Given the description of an element on the screen output the (x, y) to click on. 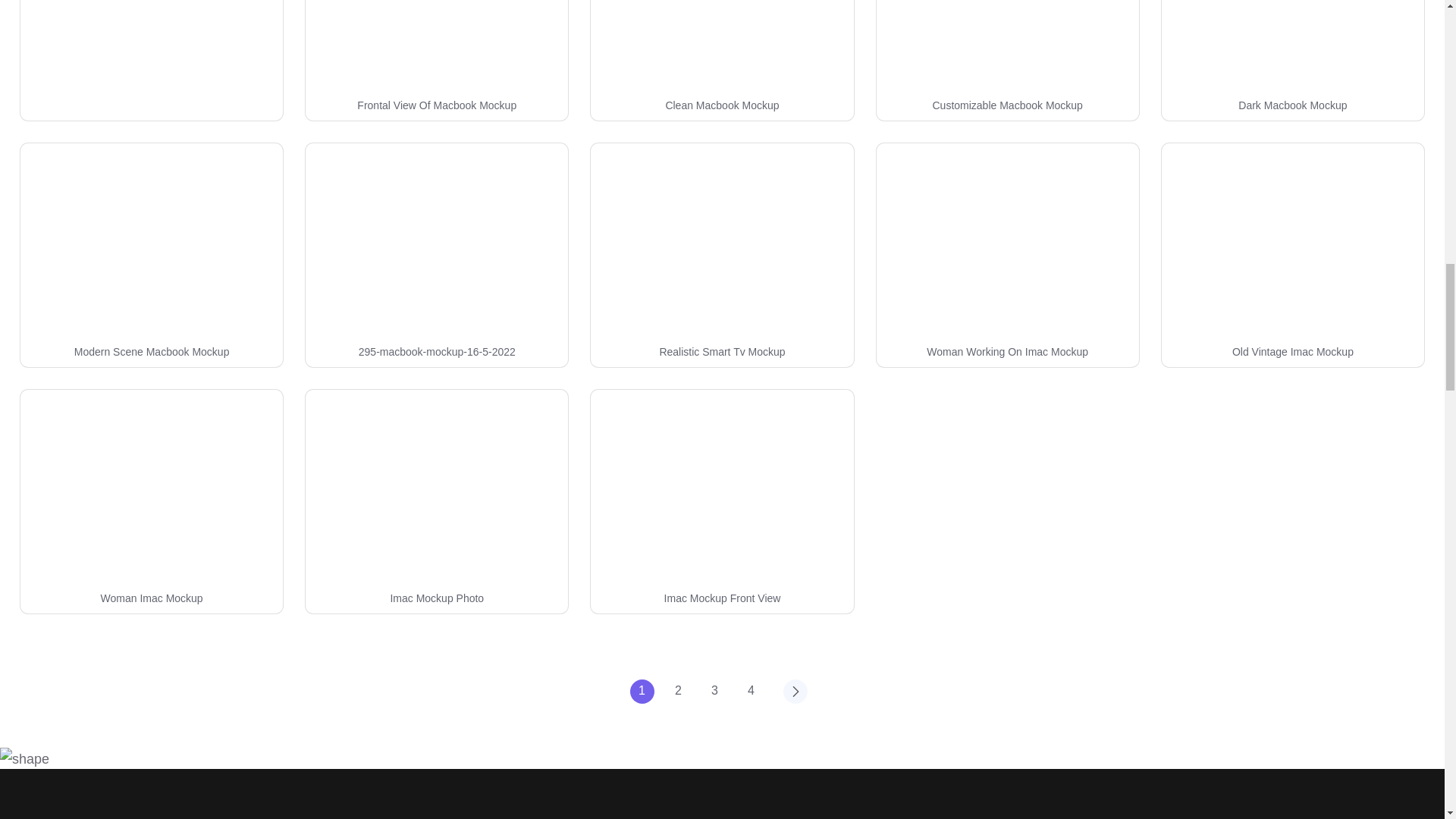
Frontal View Of Macbook Mockup (436, 105)
Clean Macbook Mockup (721, 105)
